Given the description of an element on the screen output the (x, y) to click on. 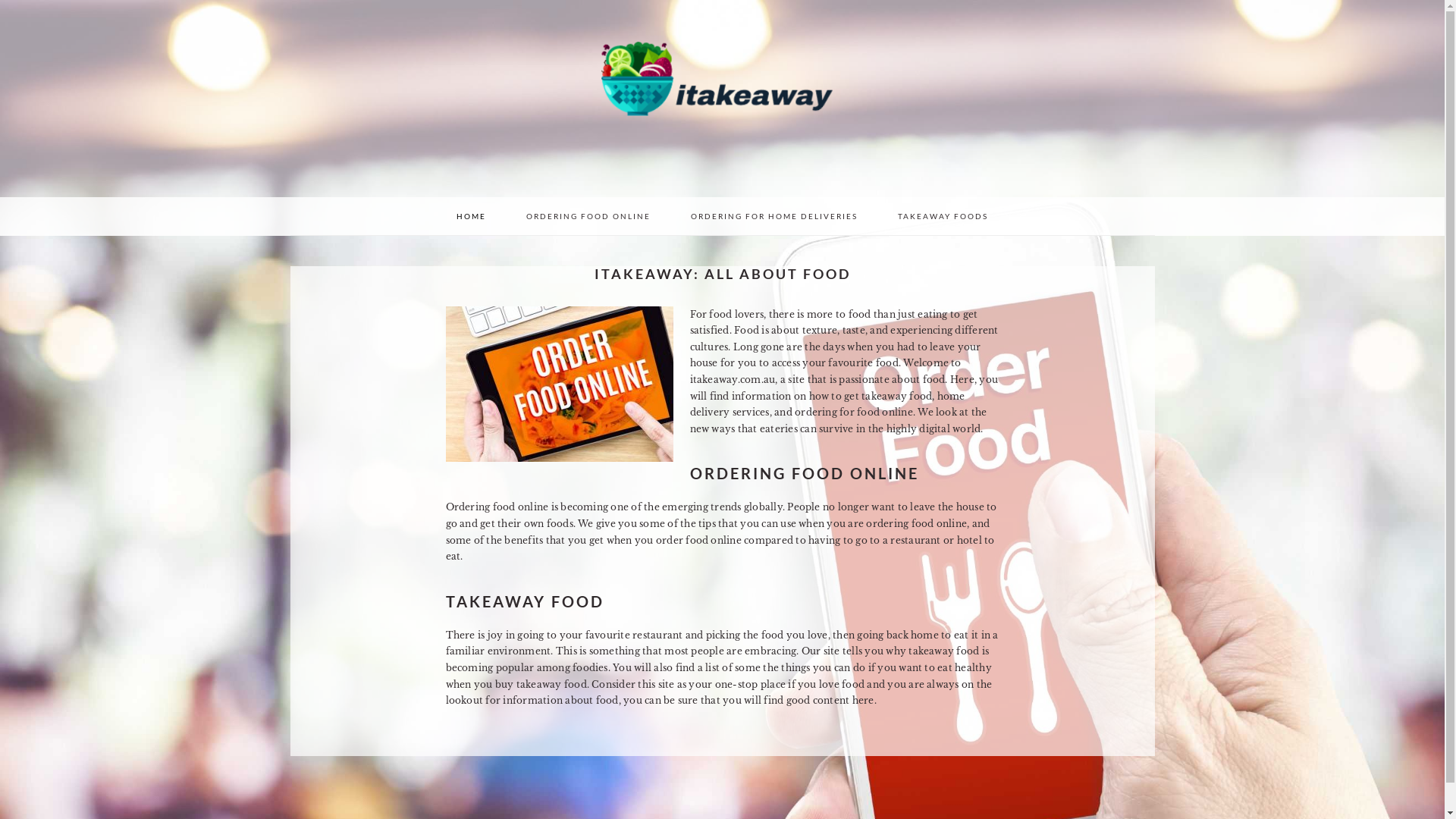
ORDERING FOR HOME DELIVERIES Element type: text (773, 216)
ITAKEAWAY Element type: text (721, 98)
HOME Element type: text (471, 216)
Skip to main content Element type: text (0, 0)
ORDERING FOOD ONLINE Element type: text (588, 216)
TAKEAWAY FOODS Element type: text (942, 216)
